Given the description of an element on the screen output the (x, y) to click on. 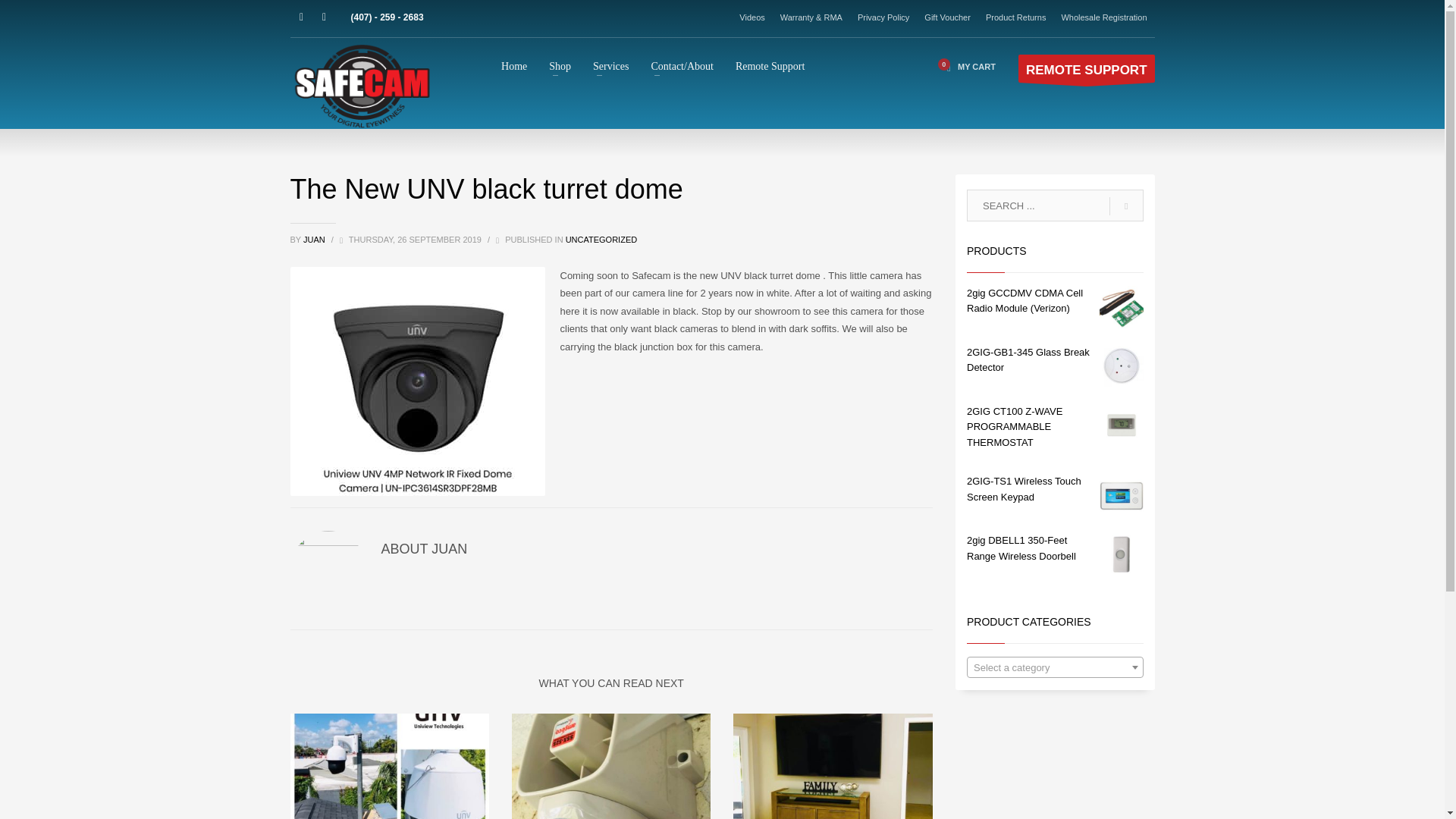
Wholesale Registration (1104, 17)
Gift Voucher (947, 17)
JUAN (314, 239)
View your shopping cart (967, 66)
Shop (559, 66)
Privacy Policy (882, 17)
Product Returns (1015, 17)
Videos (751, 17)
UNCATEGORIZED (601, 239)
MY CART (967, 66)
